Given the description of an element on the screen output the (x, y) to click on. 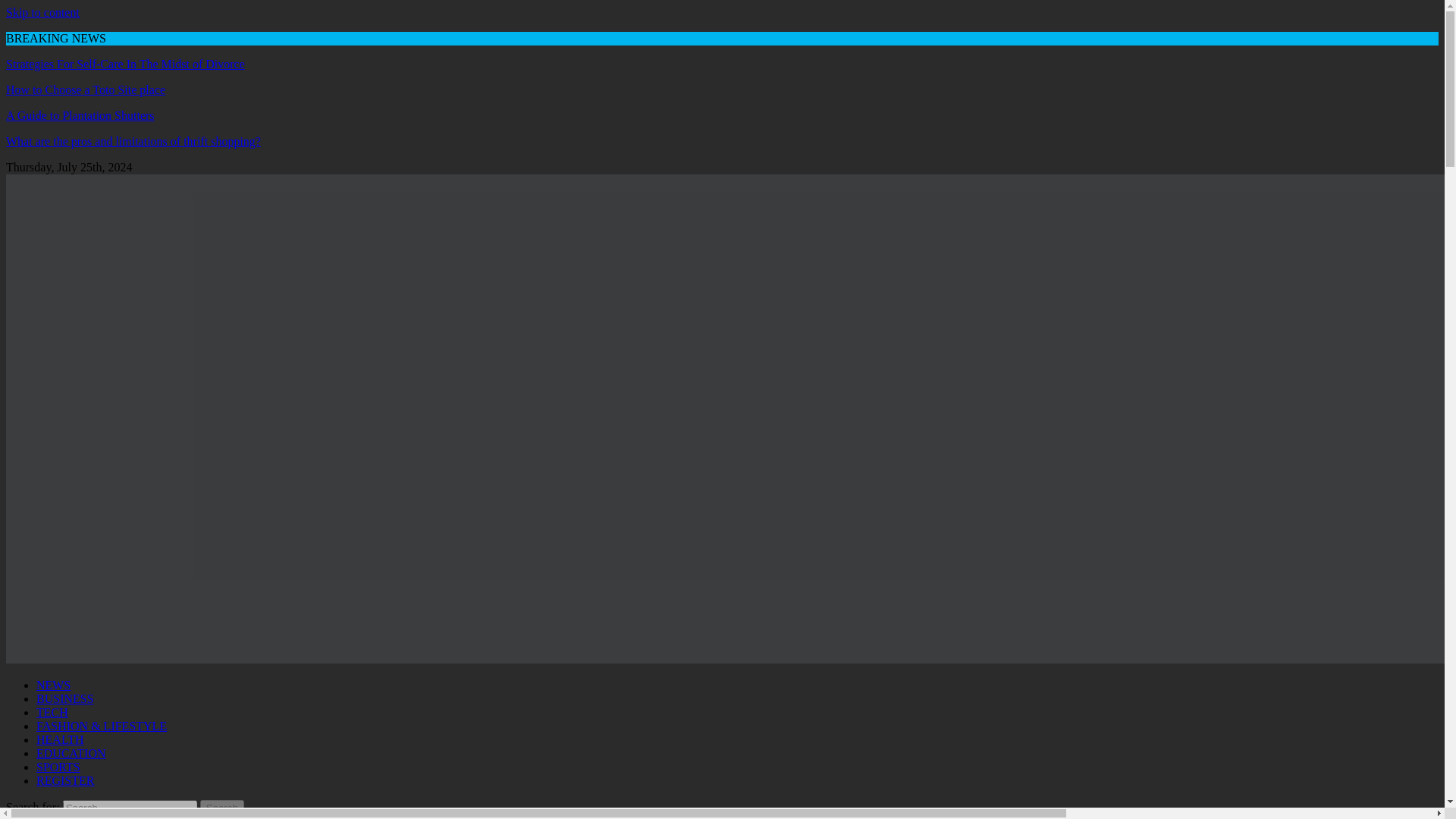
HEALTH (60, 739)
NEWS (52, 684)
EDUCATION (71, 753)
Skip to content (42, 11)
Search (222, 807)
Search (222, 807)
BUSINESS (65, 698)
SPORTS (58, 766)
TECH (52, 712)
REGISTER (65, 780)
Search (222, 807)
